Given the description of an element on the screen output the (x, y) to click on. 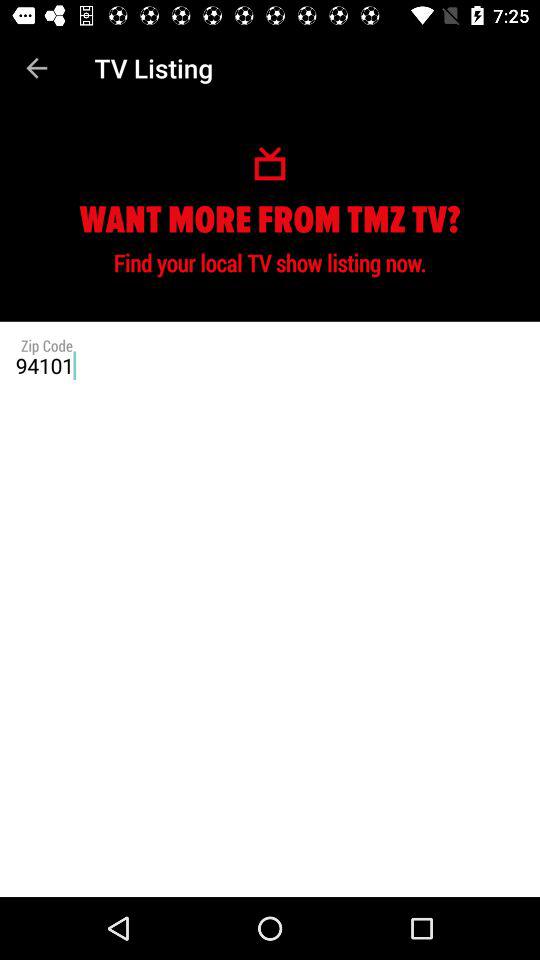
press the item above the zip code (36, 68)
